Given the description of an element on the screen output the (x, y) to click on. 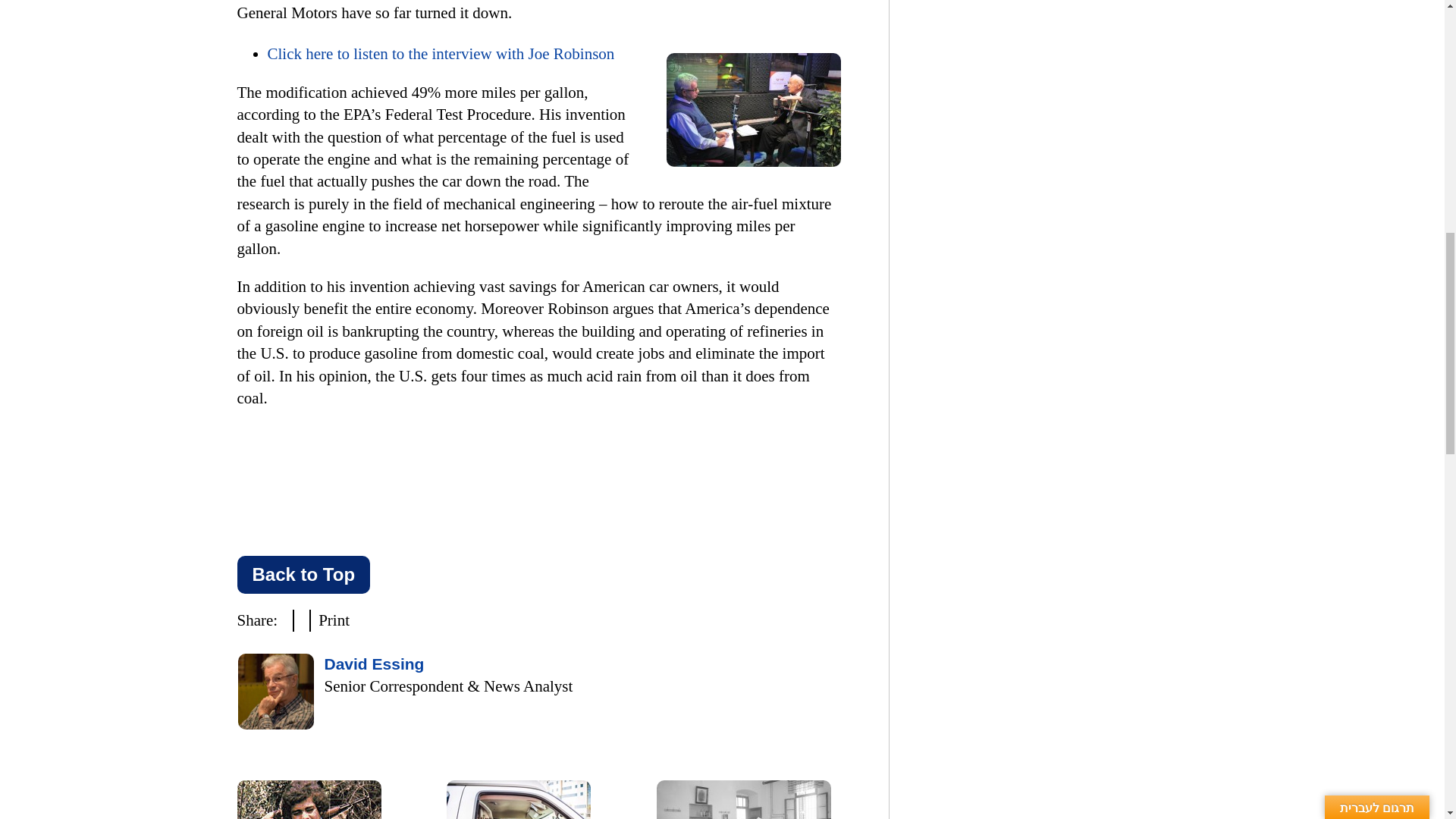
Click here to listen to the interview with Joe Robinson (440, 54)
Back to Top (302, 574)
Print (334, 620)
